Given the description of an element on the screen output the (x, y) to click on. 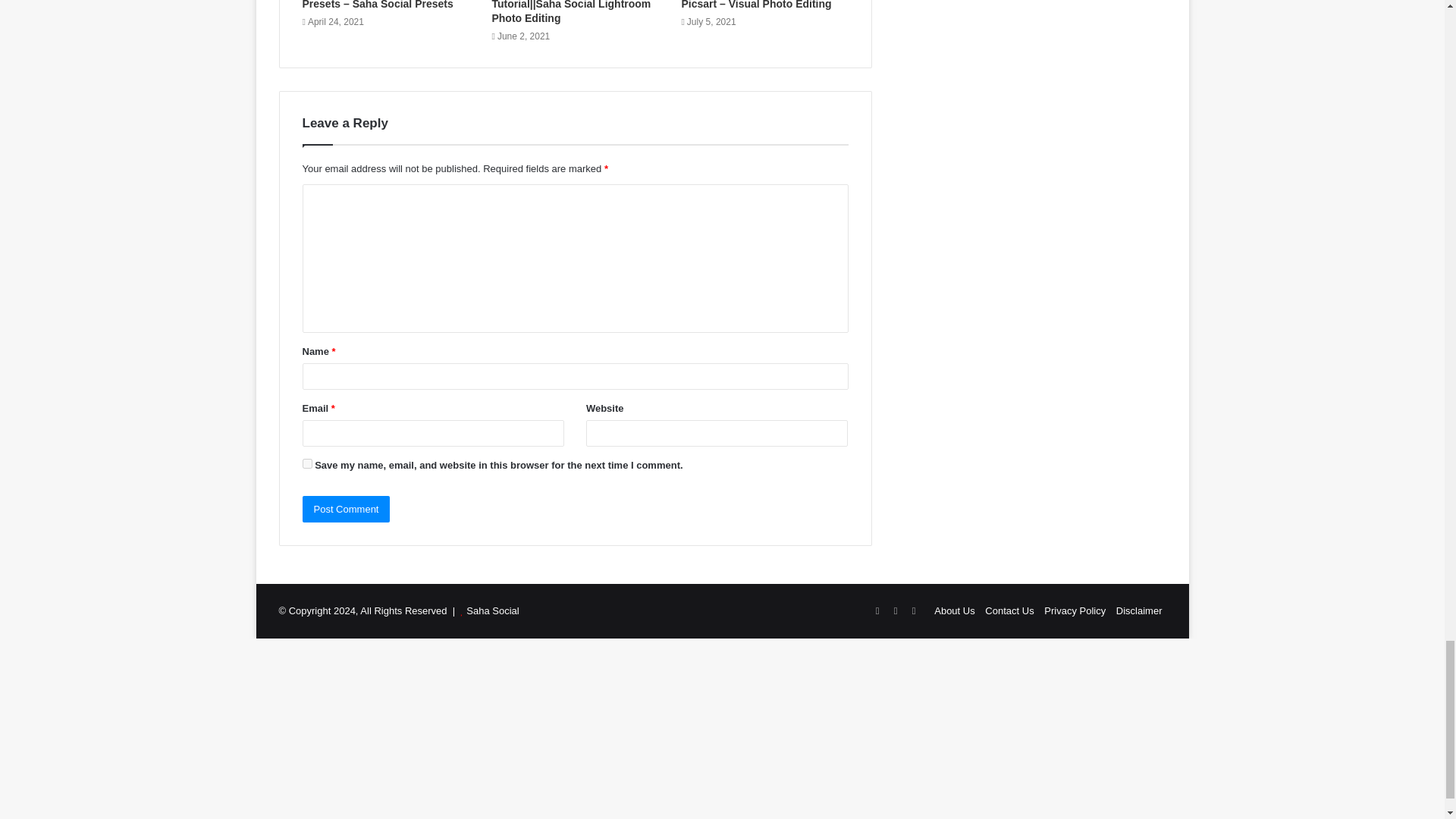
Post Comment (345, 509)
yes (306, 463)
